Given the description of an element on the screen output the (x, y) to click on. 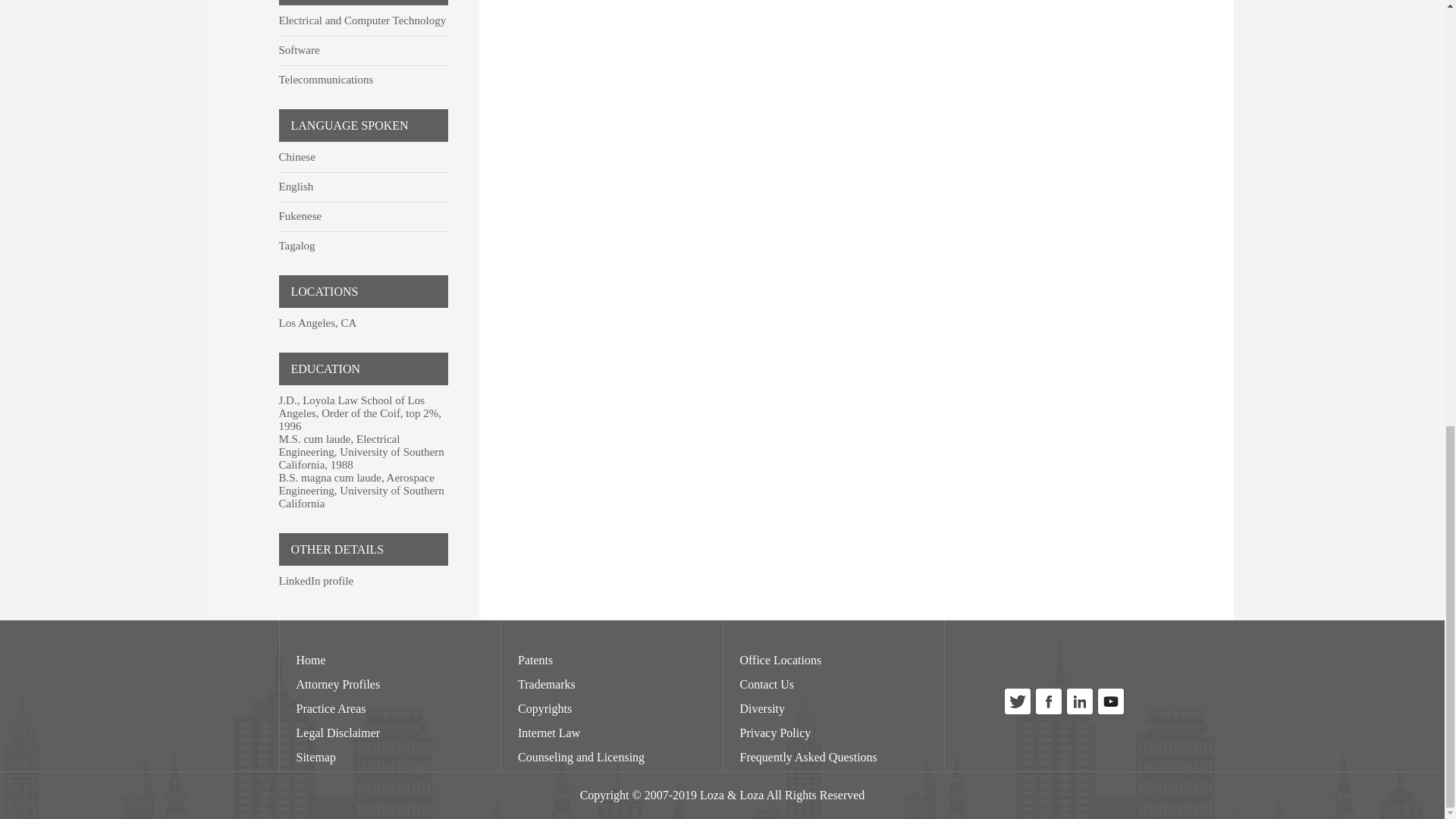
Internet Law (548, 732)
Visit Us On Facebook (1048, 712)
Practice Areas (330, 707)
Home (309, 659)
Copyrights (545, 707)
Office Locations (780, 659)
Telecommunications (326, 79)
Visit Us On Youtube (1109, 712)
Counseling and Licensing (581, 757)
Chinese (297, 156)
Electrical and Computer Technology (362, 20)
Sitemap (314, 757)
Software (299, 50)
Legal Disclaimer (337, 732)
Patents (535, 659)
